Given the description of an element on the screen output the (x, y) to click on. 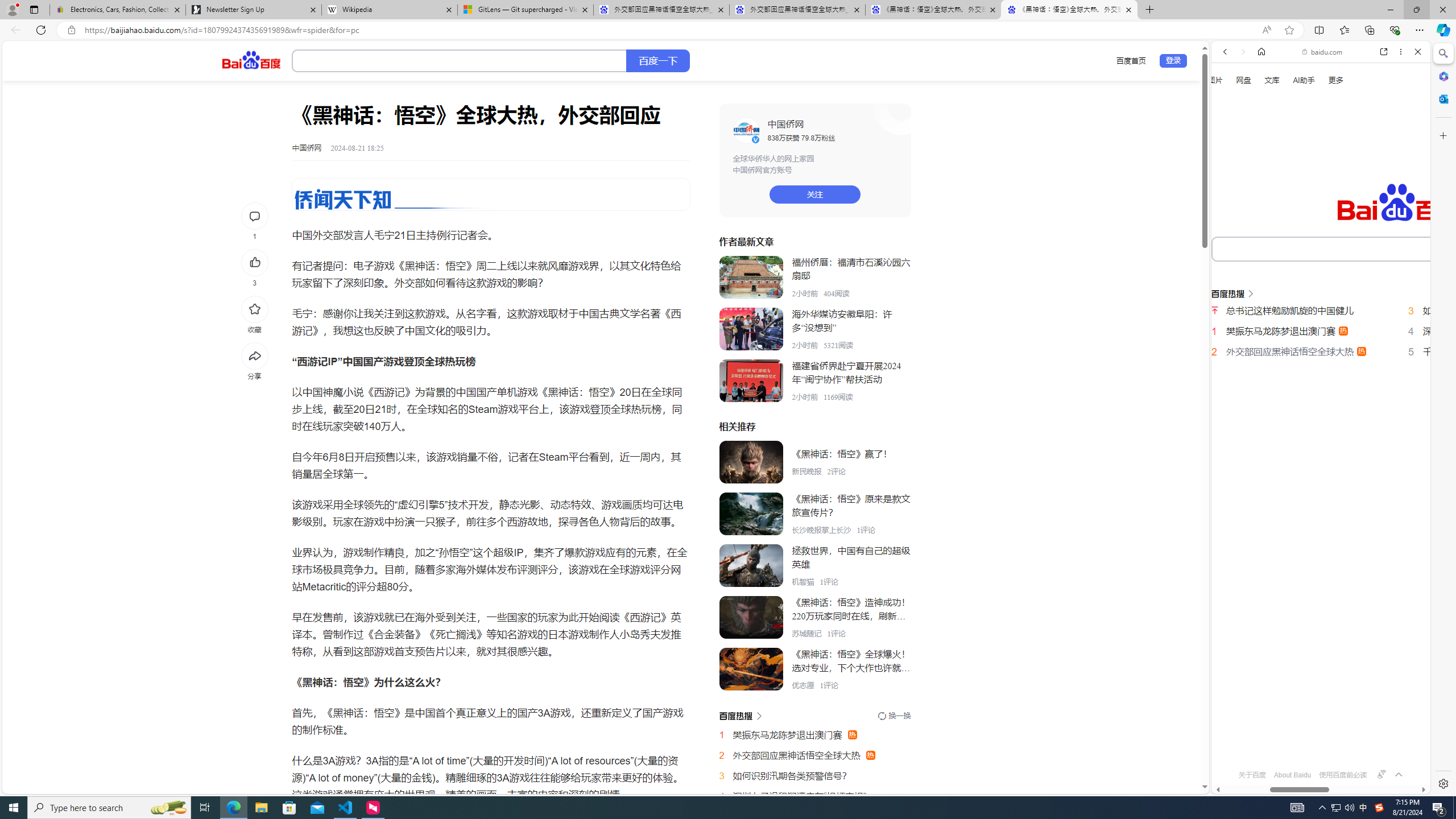
OFTV - Enjoy videos from your favorite OF creators! (1315, 753)
Web scope (1230, 102)
Search Filter, VIDEOS (1300, 192)
English (Uk) (1320, 353)
Search Filter, WEB (1230, 192)
Class: _3aYo6 (751, 380)
Preferences (1403, 191)
